Given the description of an element on the screen output the (x, y) to click on. 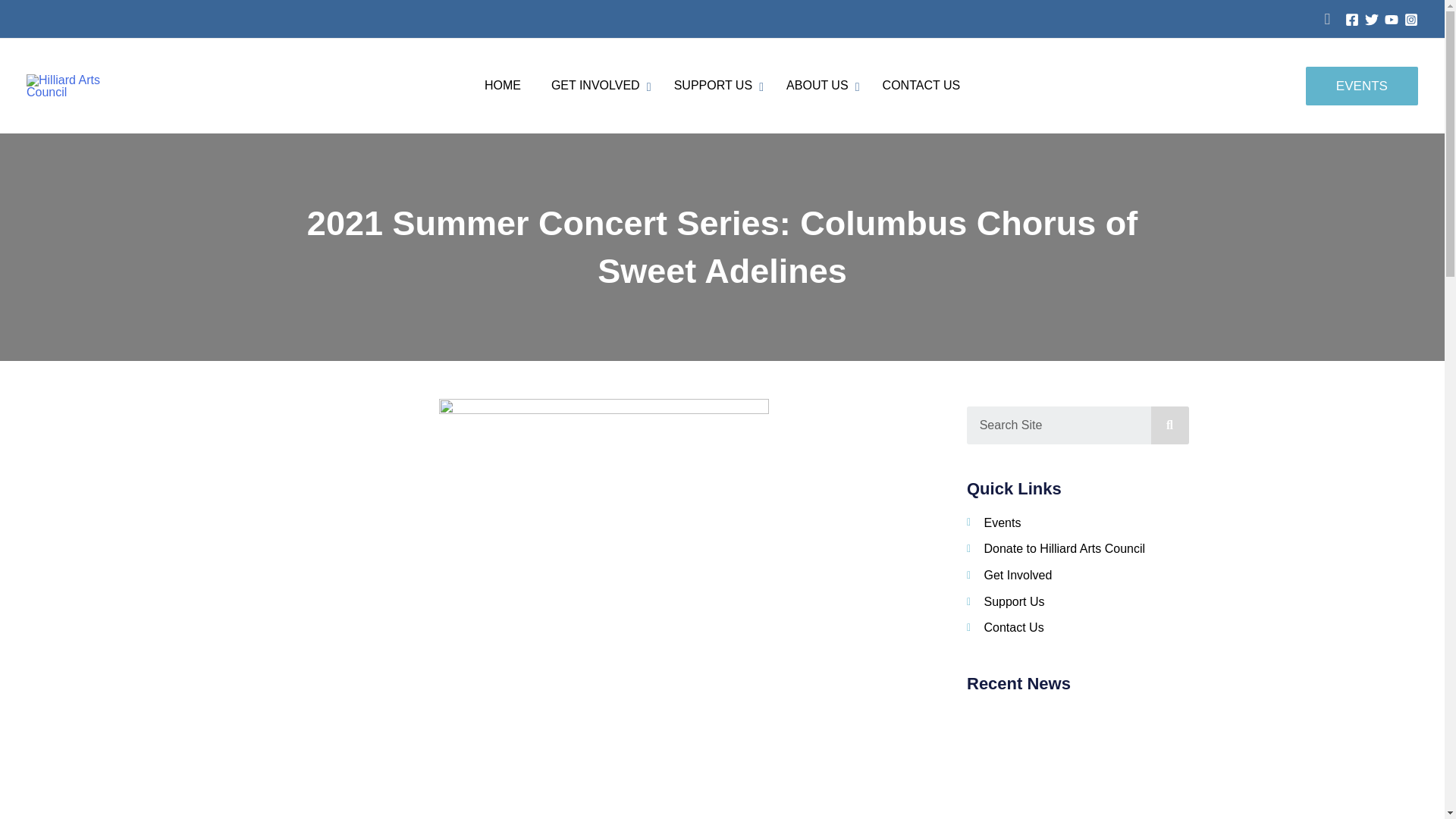
ABOUT US (819, 85)
Search (721, 85)
SUPPORT US (1058, 425)
Search (715, 85)
GET INVOLVED (1170, 425)
HOME (597, 85)
